Given the description of an element on the screen output the (x, y) to click on. 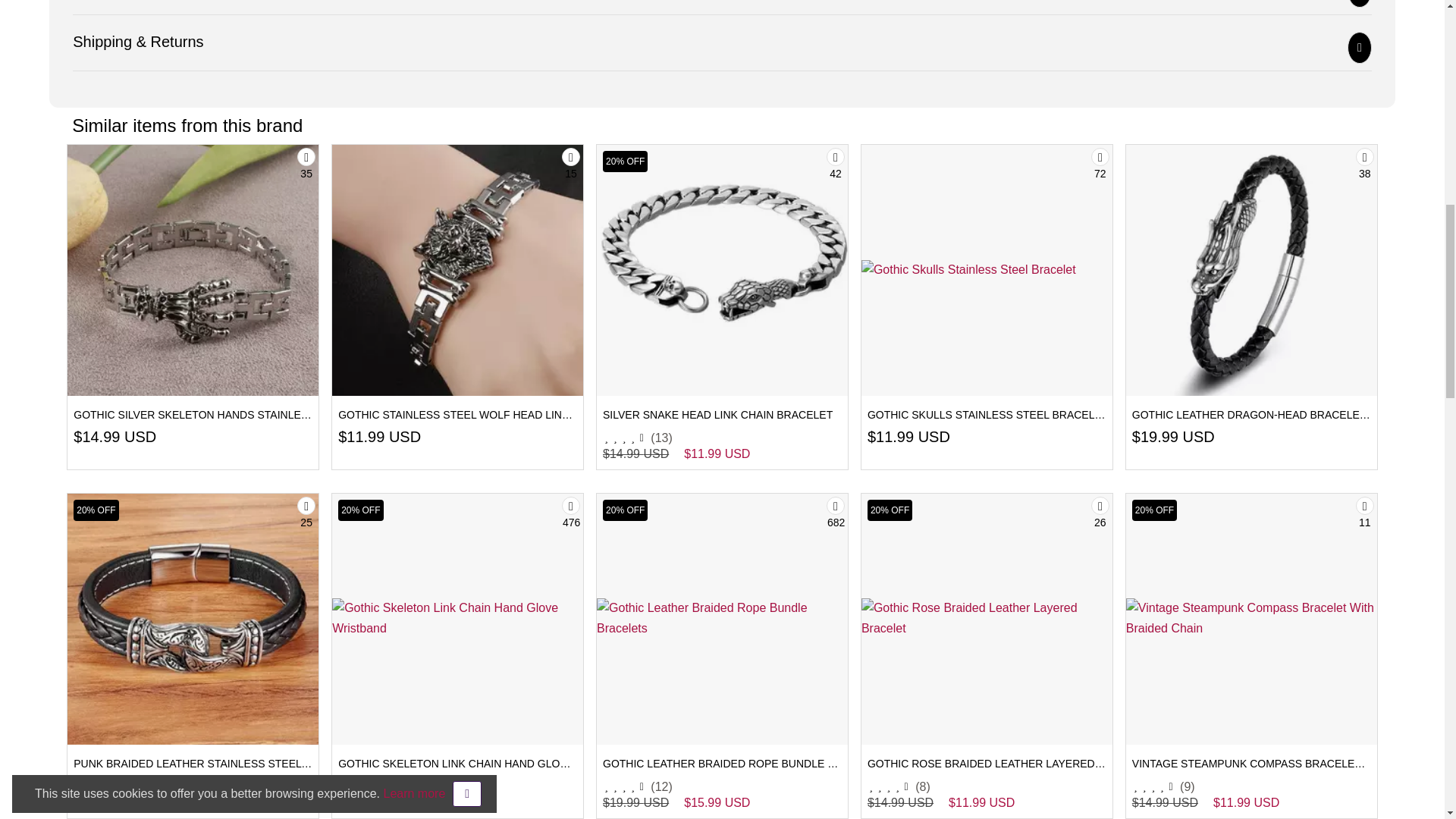
USD (139, 436)
Gothic Stainless Steel Wolf Head Link Chain Bracelet (457, 269)
11.99 (365, 436)
14.99 (100, 436)
